Given the description of an element on the screen output the (x, y) to click on. 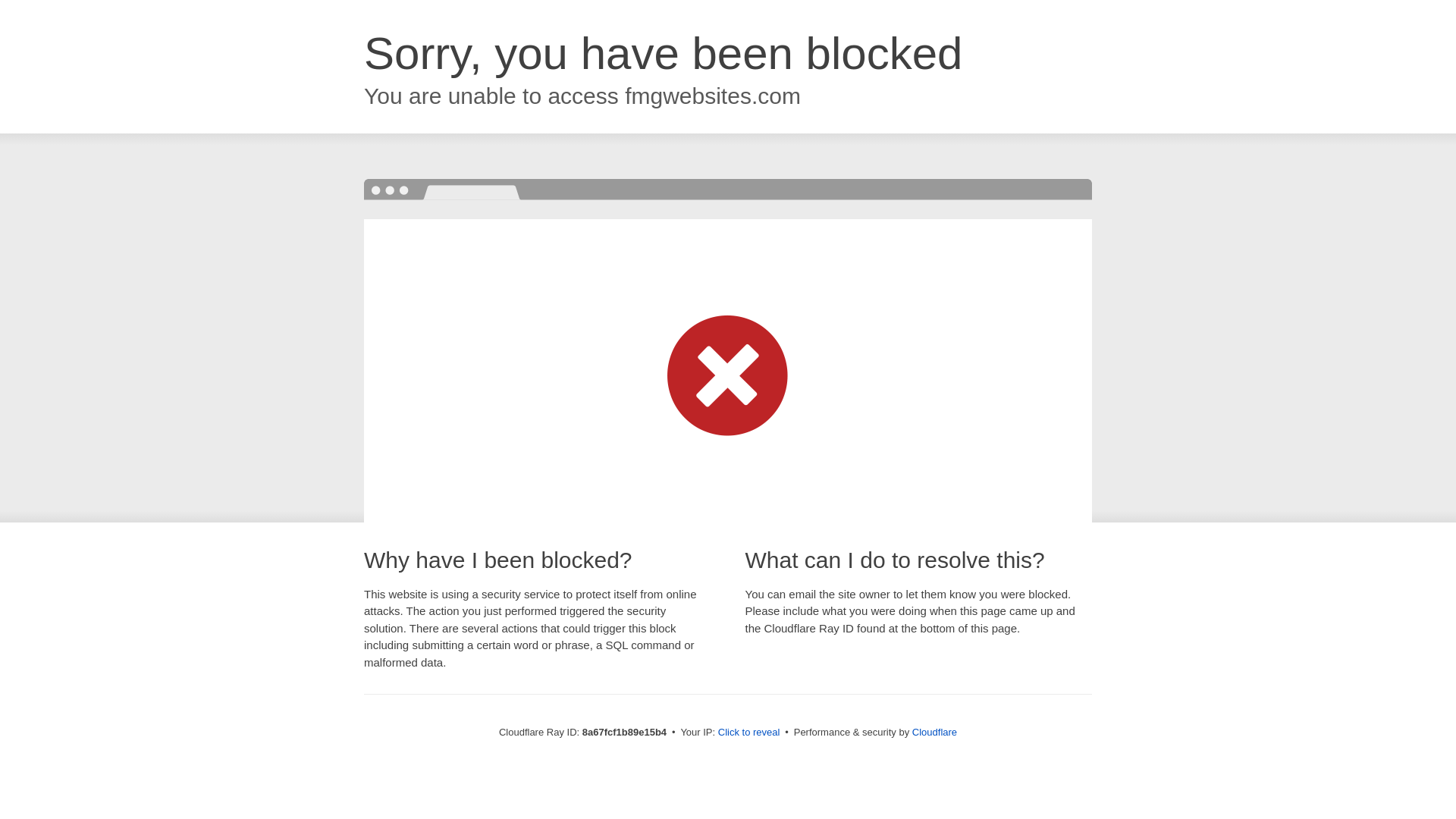
Click to reveal (748, 732)
Cloudflare (934, 731)
